Given the description of an element on the screen output the (x, y) to click on. 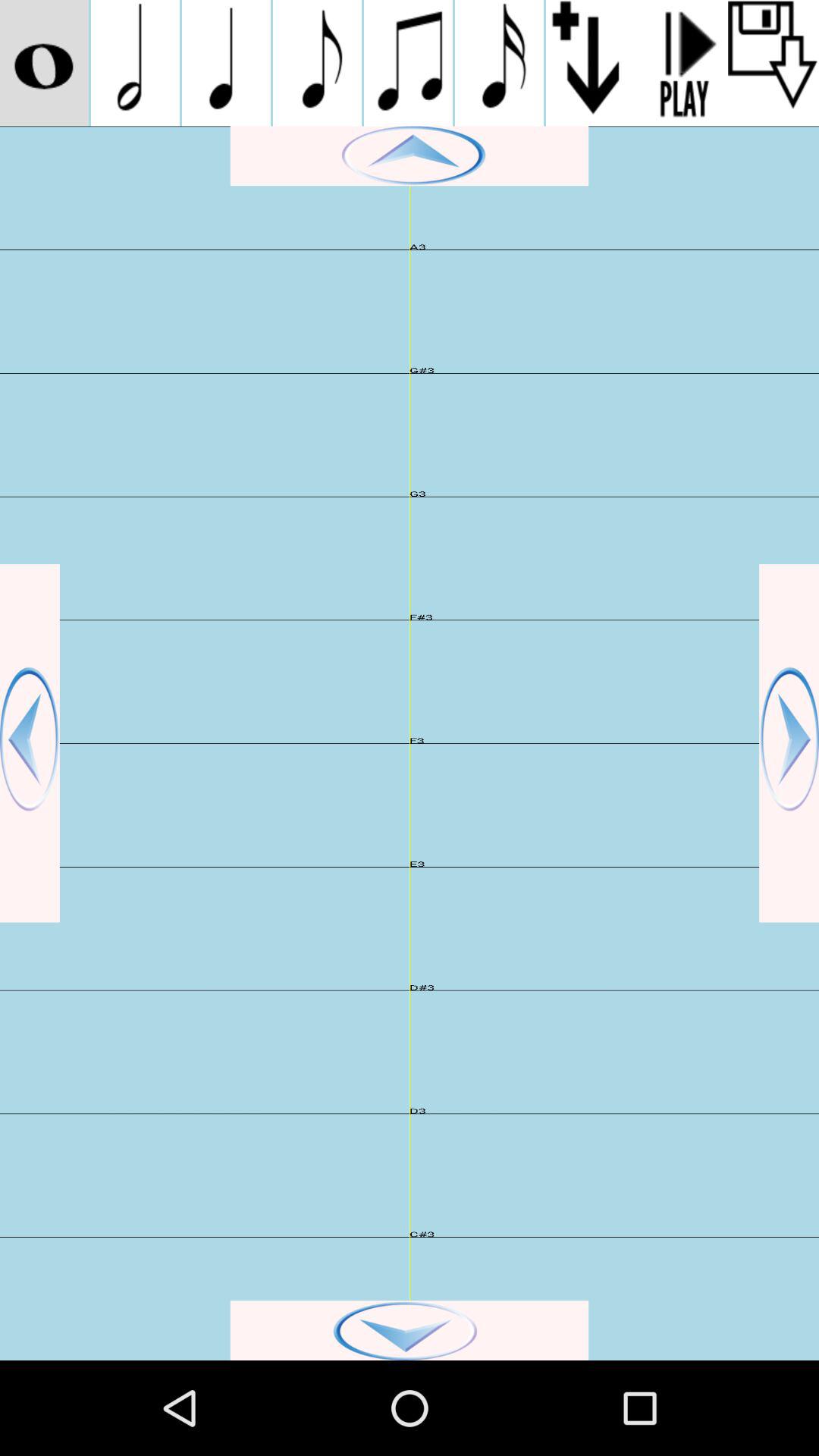
navigate up (409, 155)
